Given the description of an element on the screen output the (x, y) to click on. 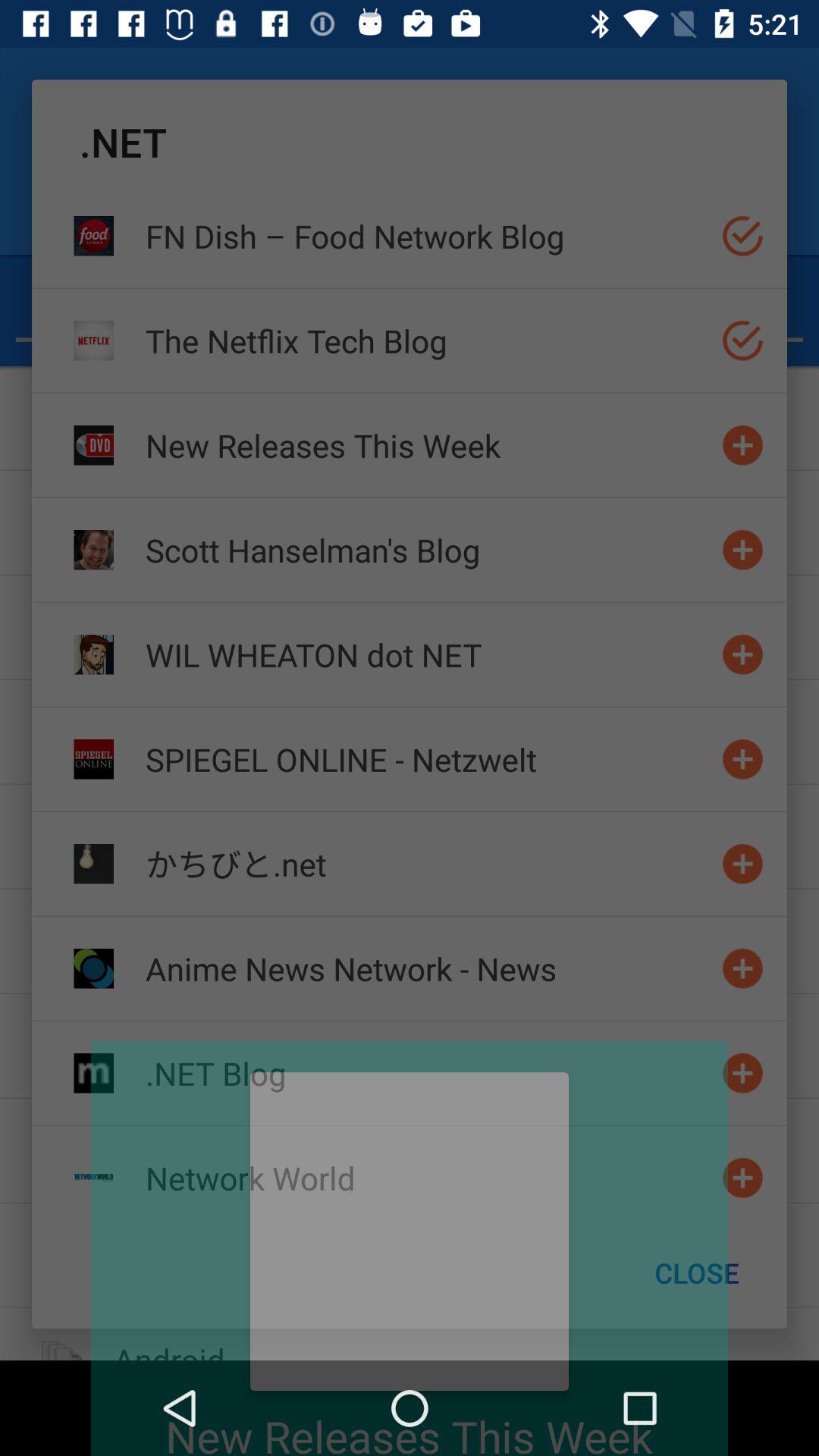
flip to spiegel online - netzwelt (426, 758)
